Given the description of an element on the screen output the (x, y) to click on. 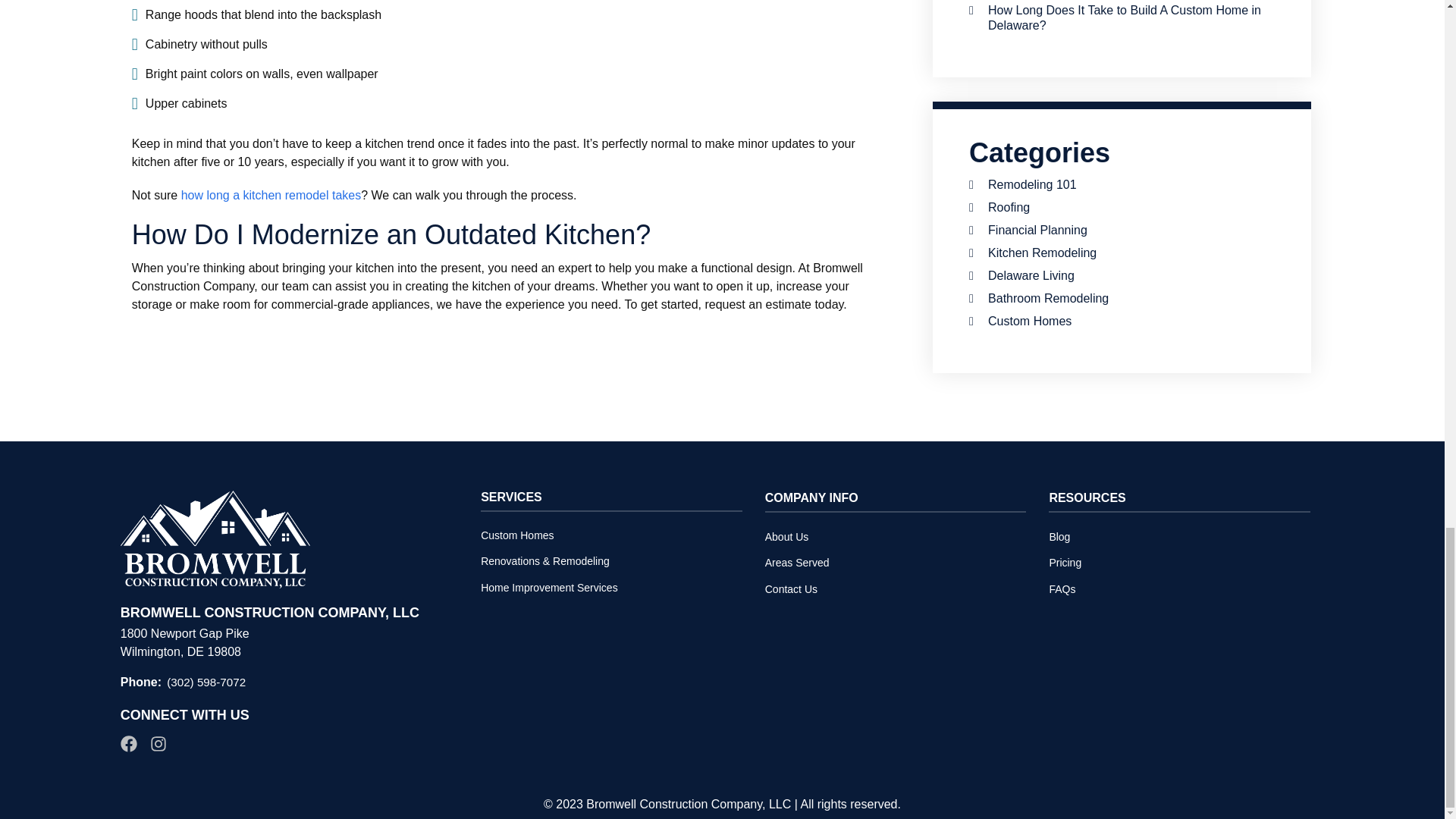
Bromwell Construction (215, 539)
